Given the description of an element on the screen output the (x, y) to click on. 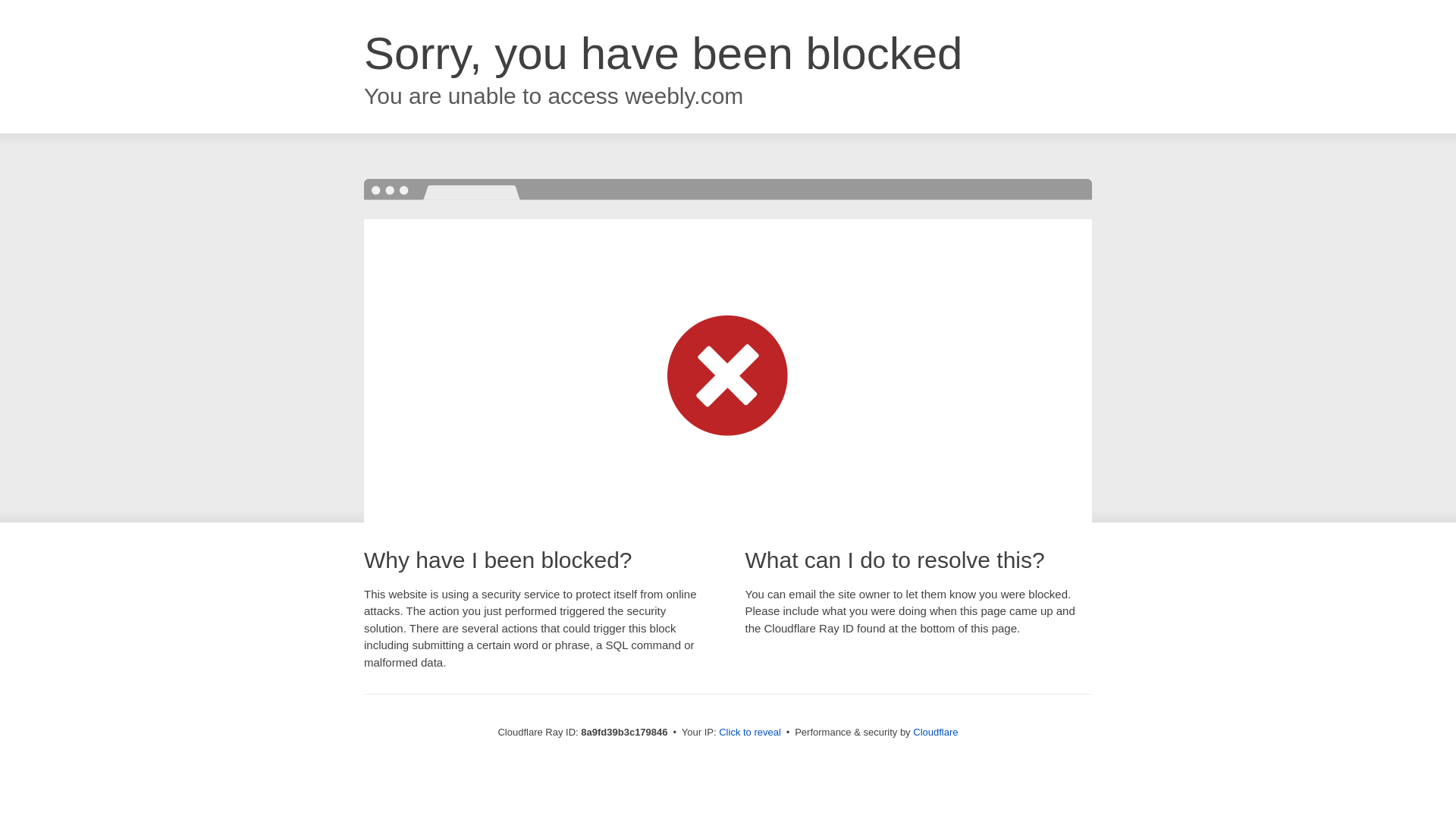
Click to reveal (749, 732)
Cloudflare (935, 731)
